Given the description of an element on the screen output the (x, y) to click on. 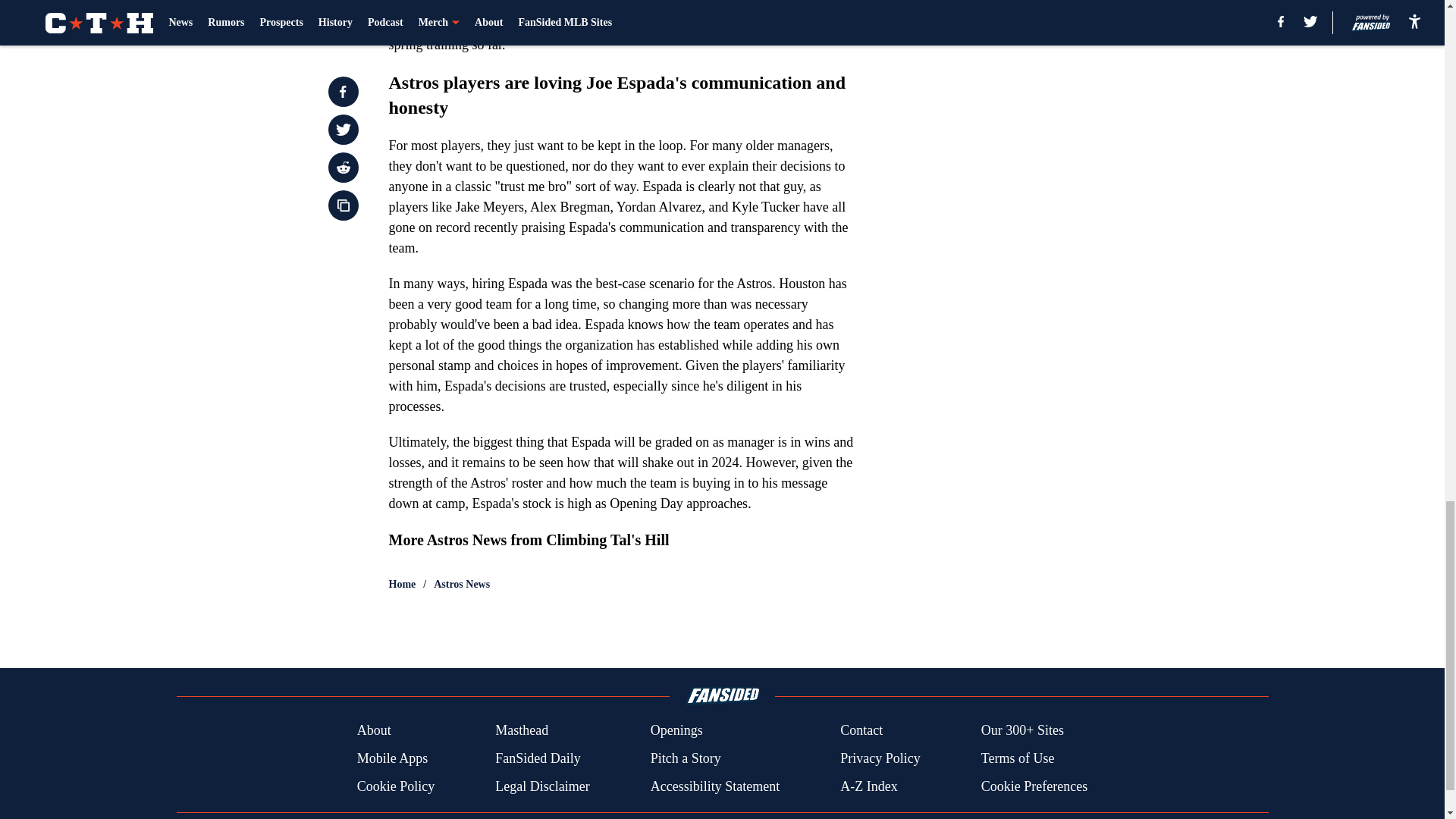
A-Z Index (868, 786)
Pitch a Story (685, 758)
Home (401, 584)
Astros News (461, 584)
loving the direction Espada is taking the team (718, 23)
About (373, 730)
Accessibility Statement (714, 786)
Cookie Policy (395, 786)
FanSided Daily (537, 758)
Contact (861, 730)
Legal Disclaimer (542, 786)
Terms of Use (1017, 758)
Openings (676, 730)
Masthead (521, 730)
Privacy Policy (880, 758)
